Given the description of an element on the screen output the (x, y) to click on. 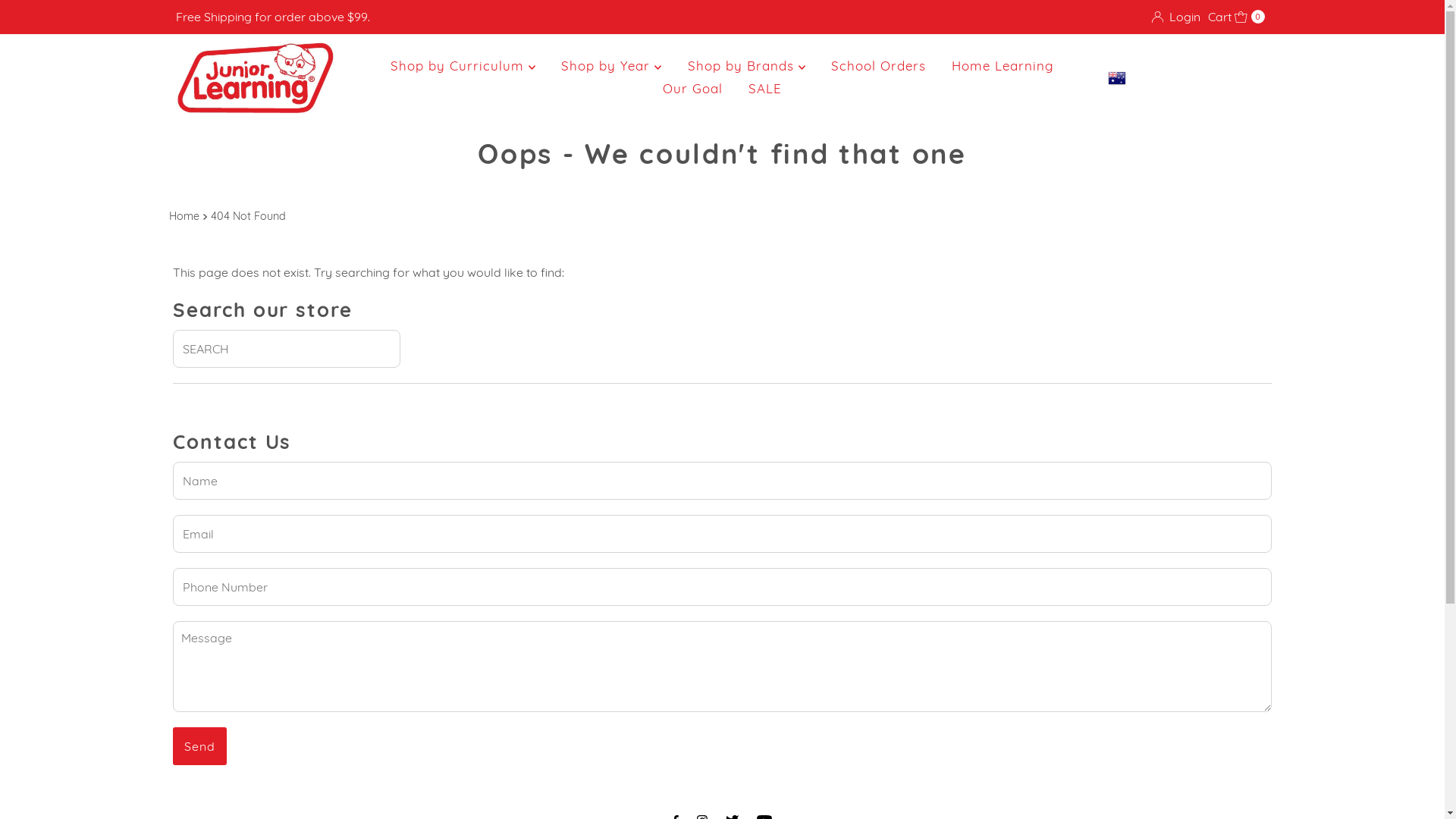
Search our store Element type: hover (286, 348)
Home Element type: text (185, 216)
Send Element type: text (199, 746)
Cart 
0 Element type: text (1236, 17)
Home Learning Element type: text (1002, 65)
  Login Element type: text (1175, 17)
SALE Element type: text (765, 88)
Our Goal Element type: text (692, 88)
School Orders Element type: text (878, 65)
